Given the description of an element on the screen output the (x, y) to click on. 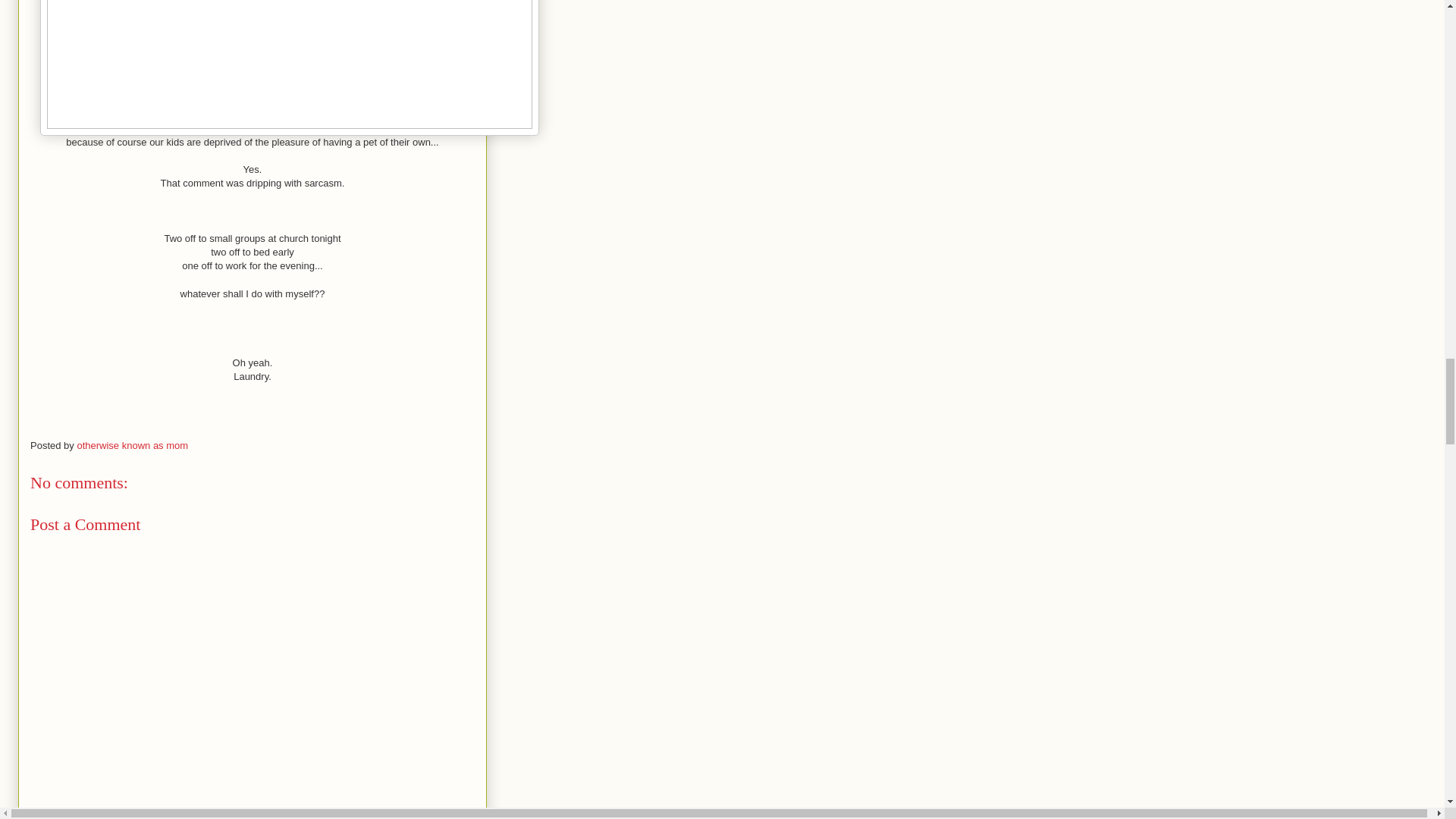
otherwise known as mom (132, 445)
author profile (132, 445)
